Given the description of an element on the screen output the (x, y) to click on. 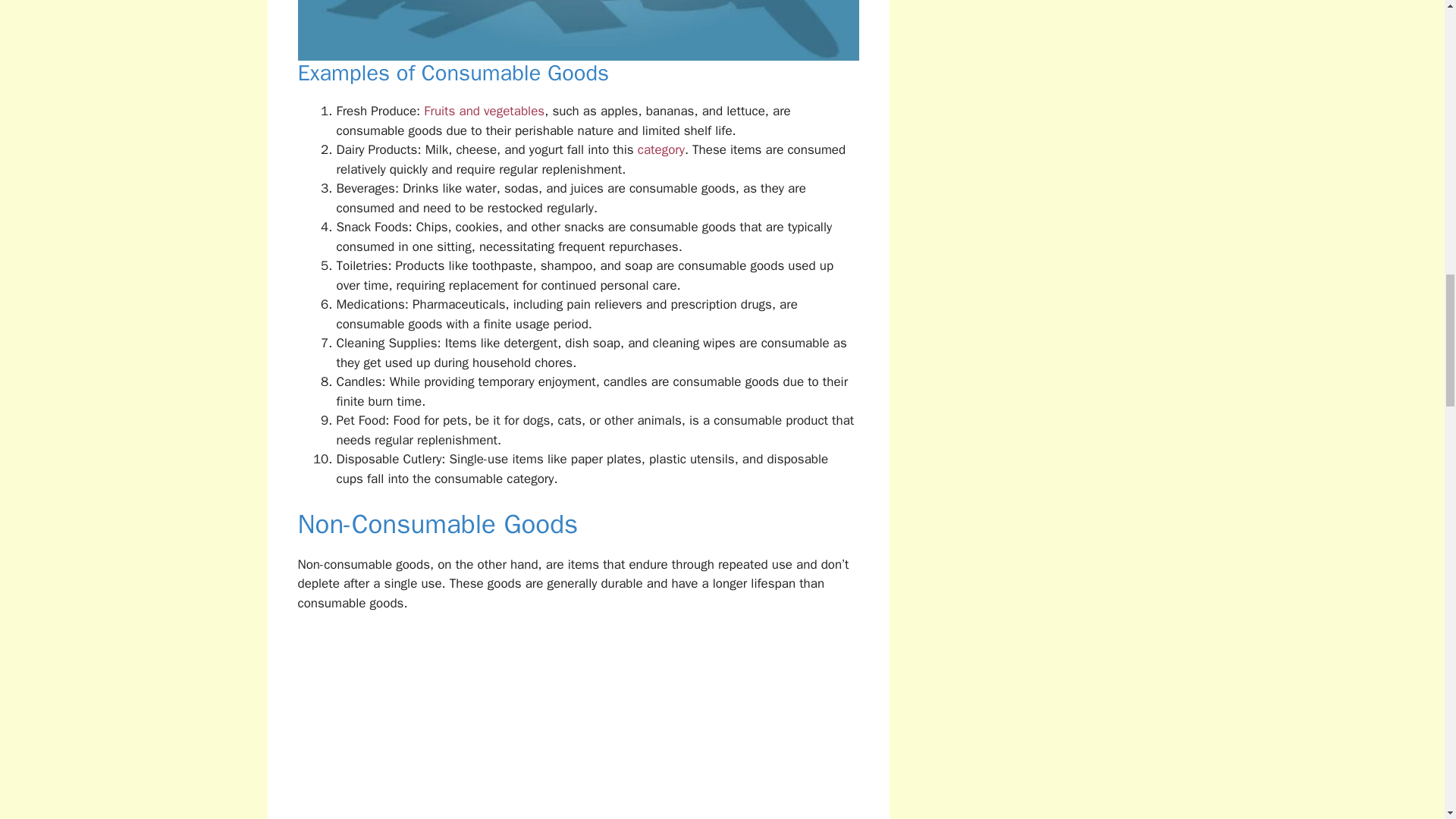
category (660, 149)
Fruits and vegetables (483, 110)
